Given the description of an element on the screen output the (x, y) to click on. 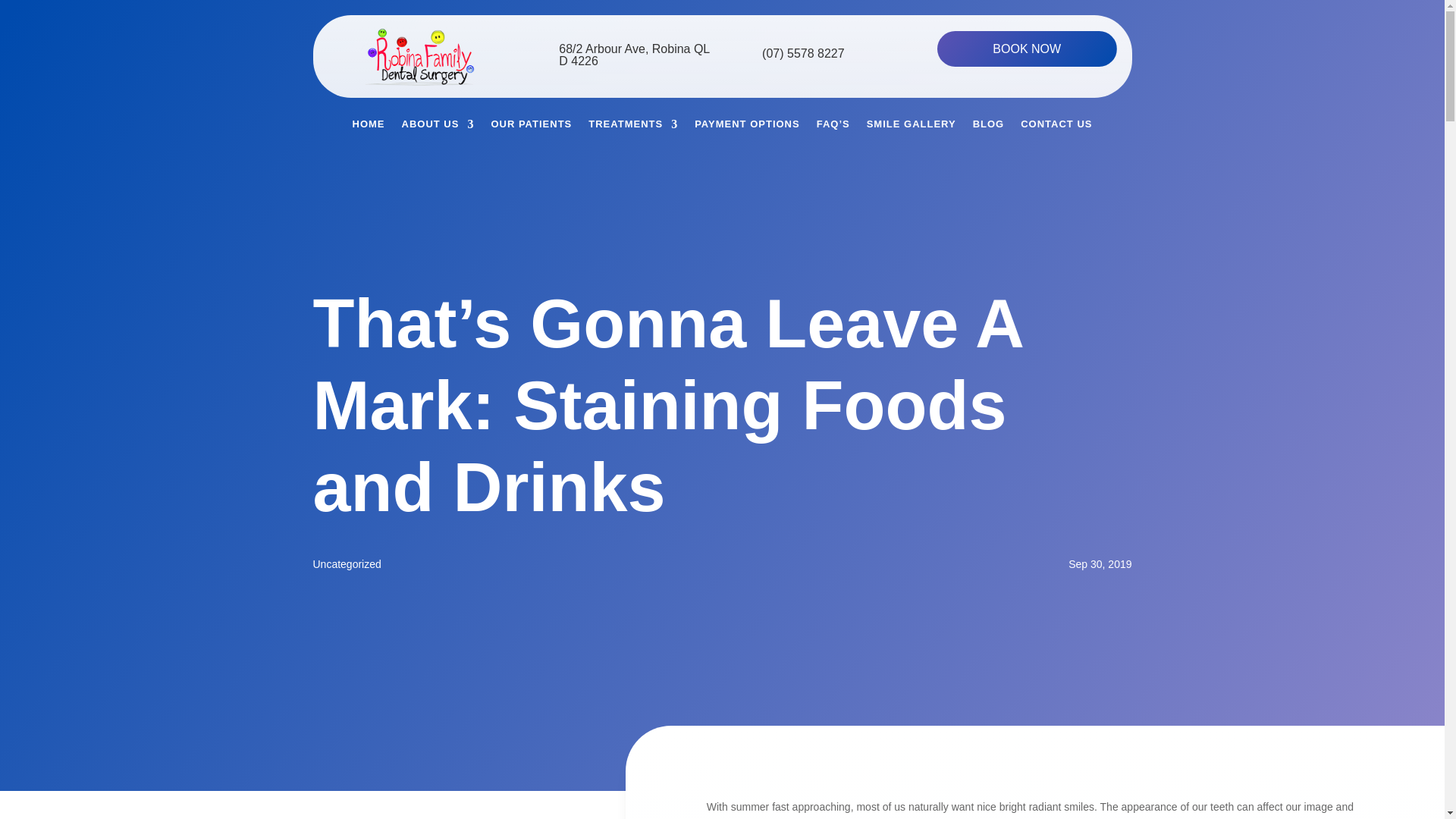
HOME (368, 126)
TREATMENTS (633, 126)
logo-cut-out (417, 56)
ABOUT US (437, 126)
SMILE GALLERY (911, 126)
OUR PATIENTS (531, 126)
CONTACT US (1056, 126)
PAYMENT OPTIONS (746, 126)
BOOK NOW (1026, 48)
BLOG (988, 126)
